Given the description of an element on the screen output the (x, y) to click on. 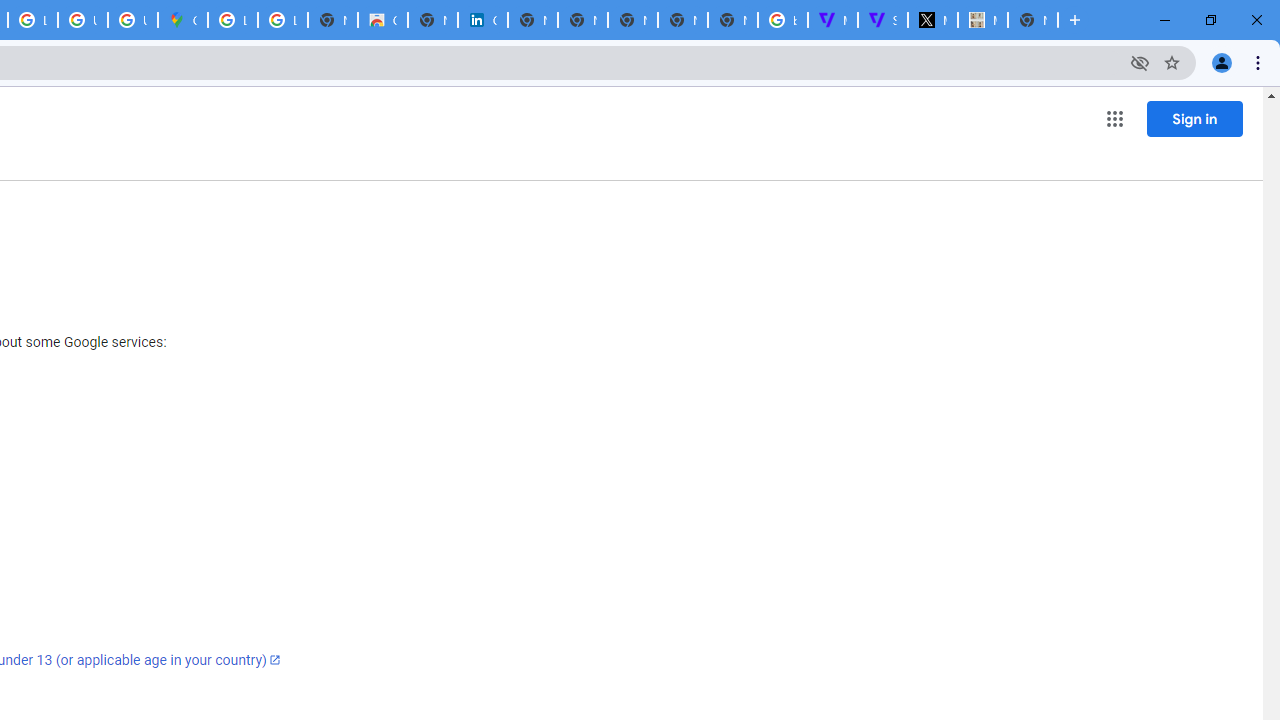
Miley Cyrus (@MileyCyrus) / X (932, 20)
New Tab (732, 20)
Streaming - The Verge (882, 20)
